Given the description of an element on the screen output the (x, y) to click on. 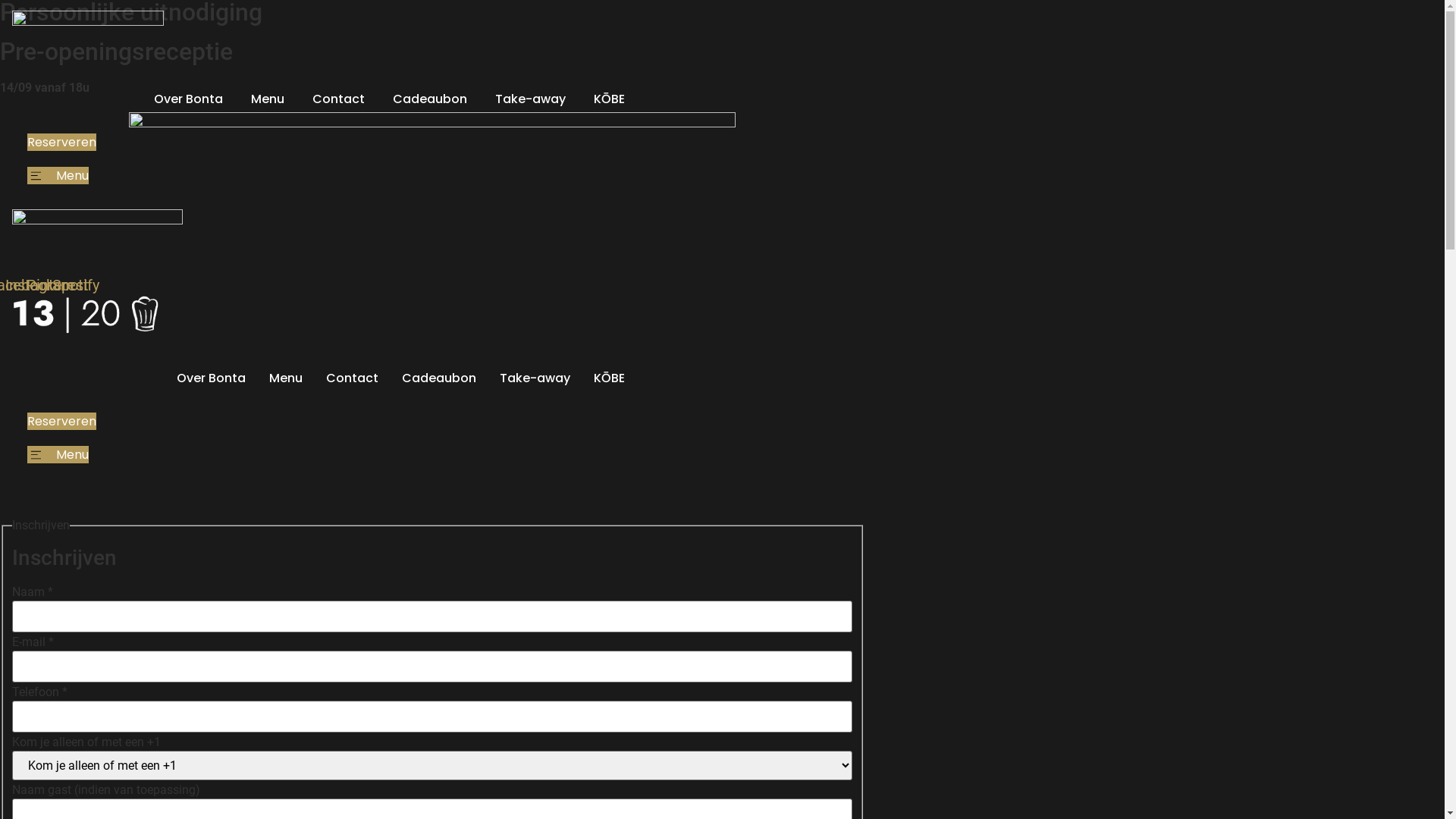
Menu Element type: text (267, 99)
Ga naar de inhoud Element type: text (0, 0)
Over Bonta Element type: text (211, 378)
Menu Element type: text (57, 175)
Reserveren Element type: text (61, 141)
Spotify Element type: text (75, 285)
Cadeaubon Element type: text (429, 99)
Instagram Element type: text (39, 285)
Menu Element type: text (285, 378)
Facebook Element type: text (21, 285)
Pinterest Element type: text (57, 285)
Take-away Element type: text (530, 99)
Over Bonta Element type: text (188, 99)
Menu Element type: text (57, 454)
Take-away Element type: text (534, 378)
Cadeaubon Element type: text (438, 378)
Contact Element type: text (351, 378)
Contact Element type: text (338, 99)
Reserveren Element type: text (61, 420)
